Given the description of an element on the screen output the (x, y) to click on. 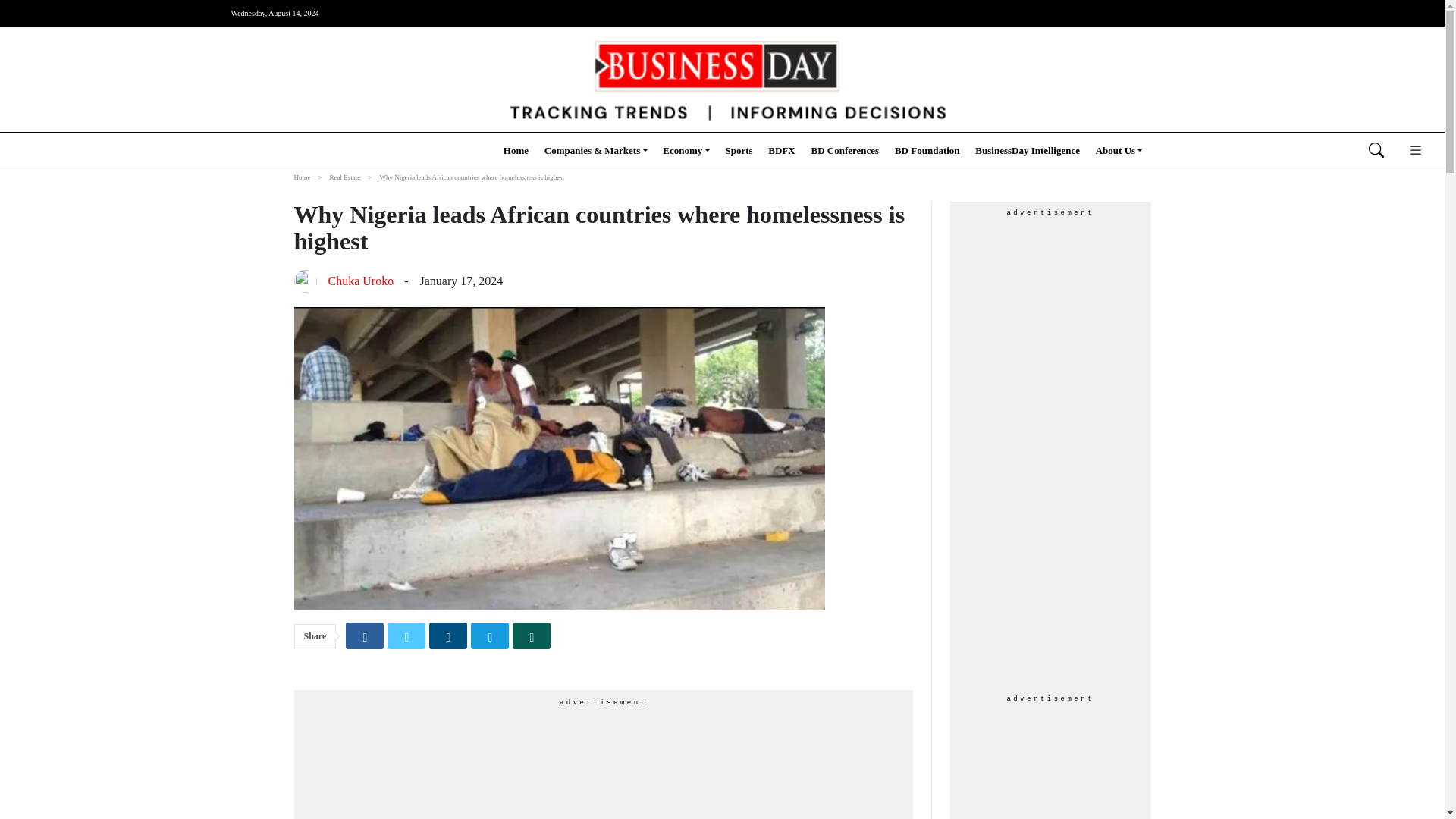
BD Foundation (927, 149)
BD Conferences (844, 149)
BusinessDay Intelligence (1027, 149)
BD Foundation (927, 149)
BusinessDay Intelligence (1027, 149)
About Us (1119, 149)
BD Conferences (844, 149)
Economy (685, 149)
About Us (1119, 149)
Economy (685, 149)
